Given the description of an element on the screen output the (x, y) to click on. 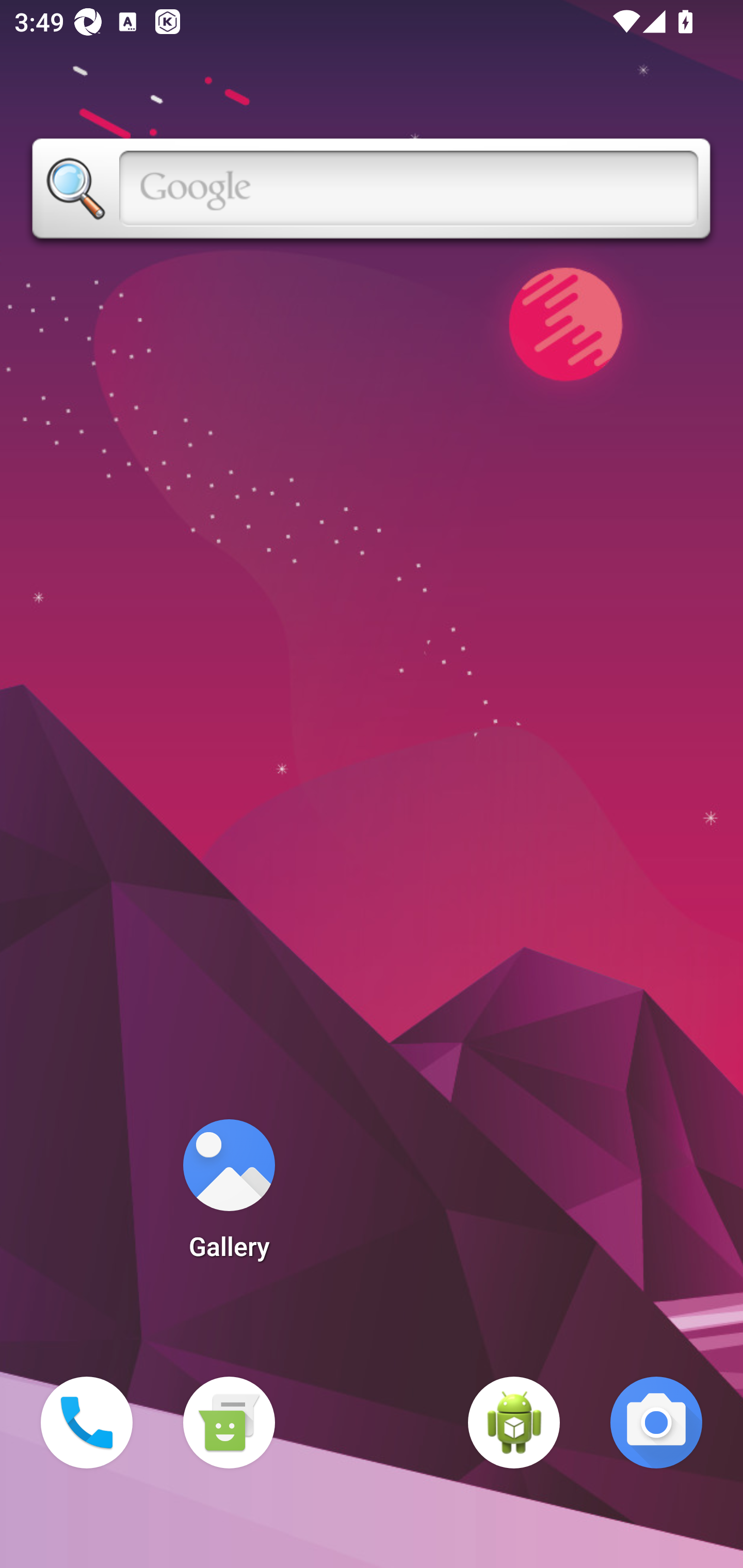
Gallery (228, 1195)
Phone (86, 1422)
Messaging (228, 1422)
WebView Browser Tester (513, 1422)
Camera (656, 1422)
